Given the description of an element on the screen output the (x, y) to click on. 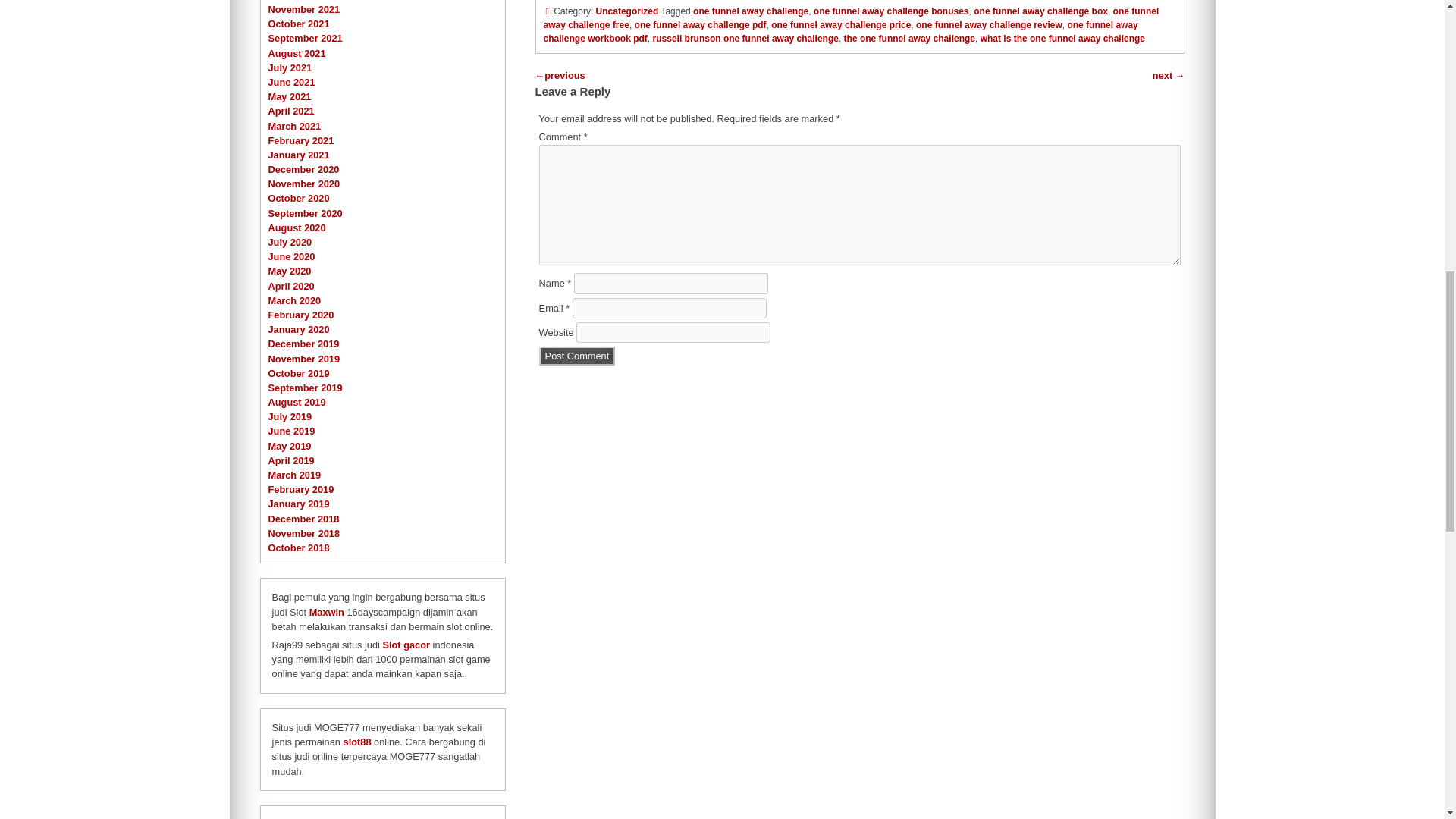
what is the one funnel away challenge (1061, 38)
Post Comment (576, 355)
Post Comment (576, 355)
one funnel away challenge price (841, 24)
one funnel away challenge pdf (700, 24)
russell brunson one funnel away challenge (745, 38)
one funnel away challenge review (988, 24)
one funnel away challenge (750, 10)
one funnel away challenge bonuses (891, 10)
one funnel away challenge free (850, 17)
